Given the description of an element on the screen output the (x, y) to click on. 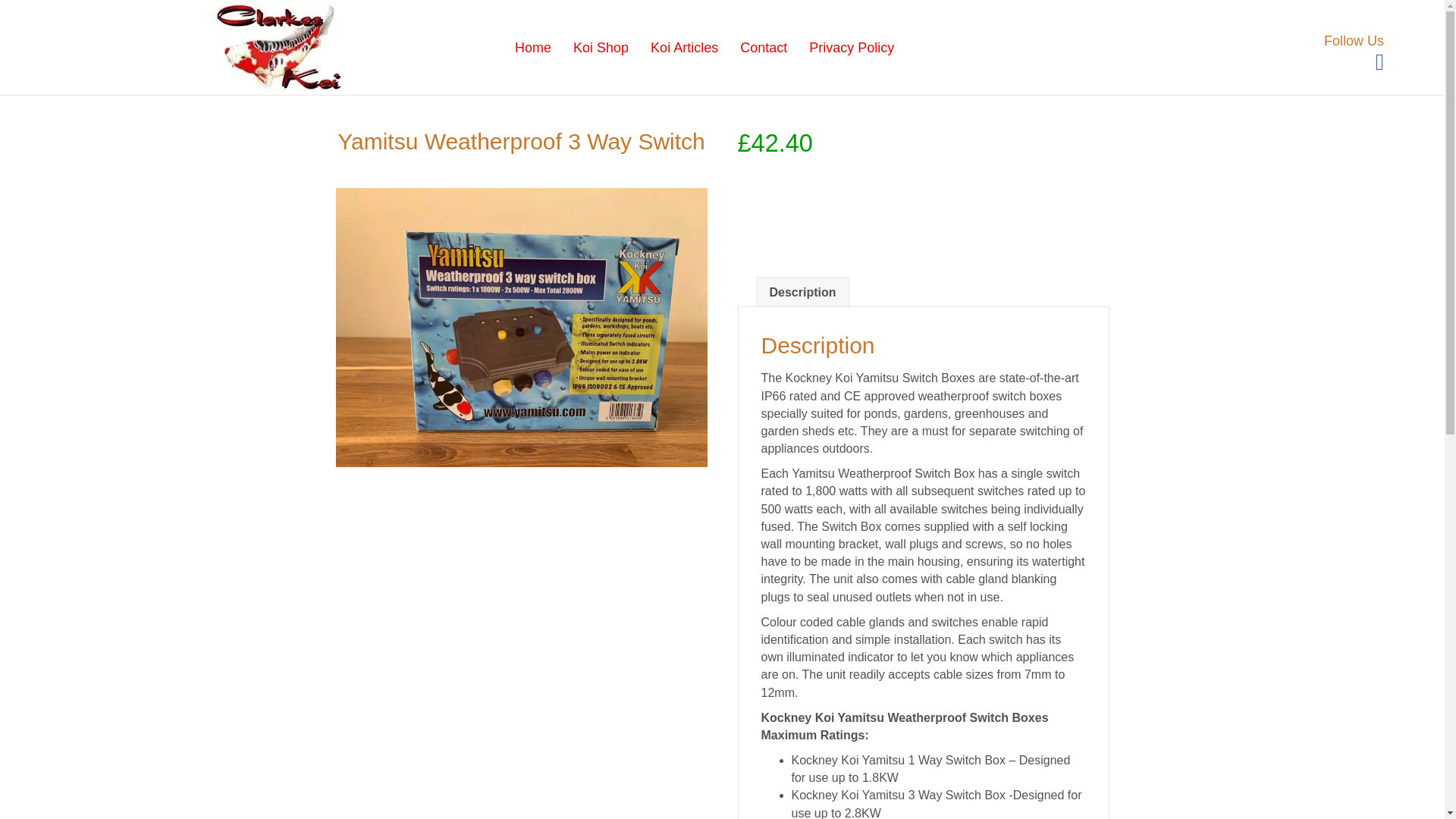
Description (801, 292)
Home (532, 47)
Privacy Policy (850, 47)
3 way switch (520, 327)
Koi Shop (600, 47)
Koi Articles (684, 47)
clarkes-koi-logo-125 (278, 47)
Contact (763, 47)
Buy Quality Koi (600, 47)
Contact Clarkes Koi (763, 47)
